Given the description of an element on the screen output the (x, y) to click on. 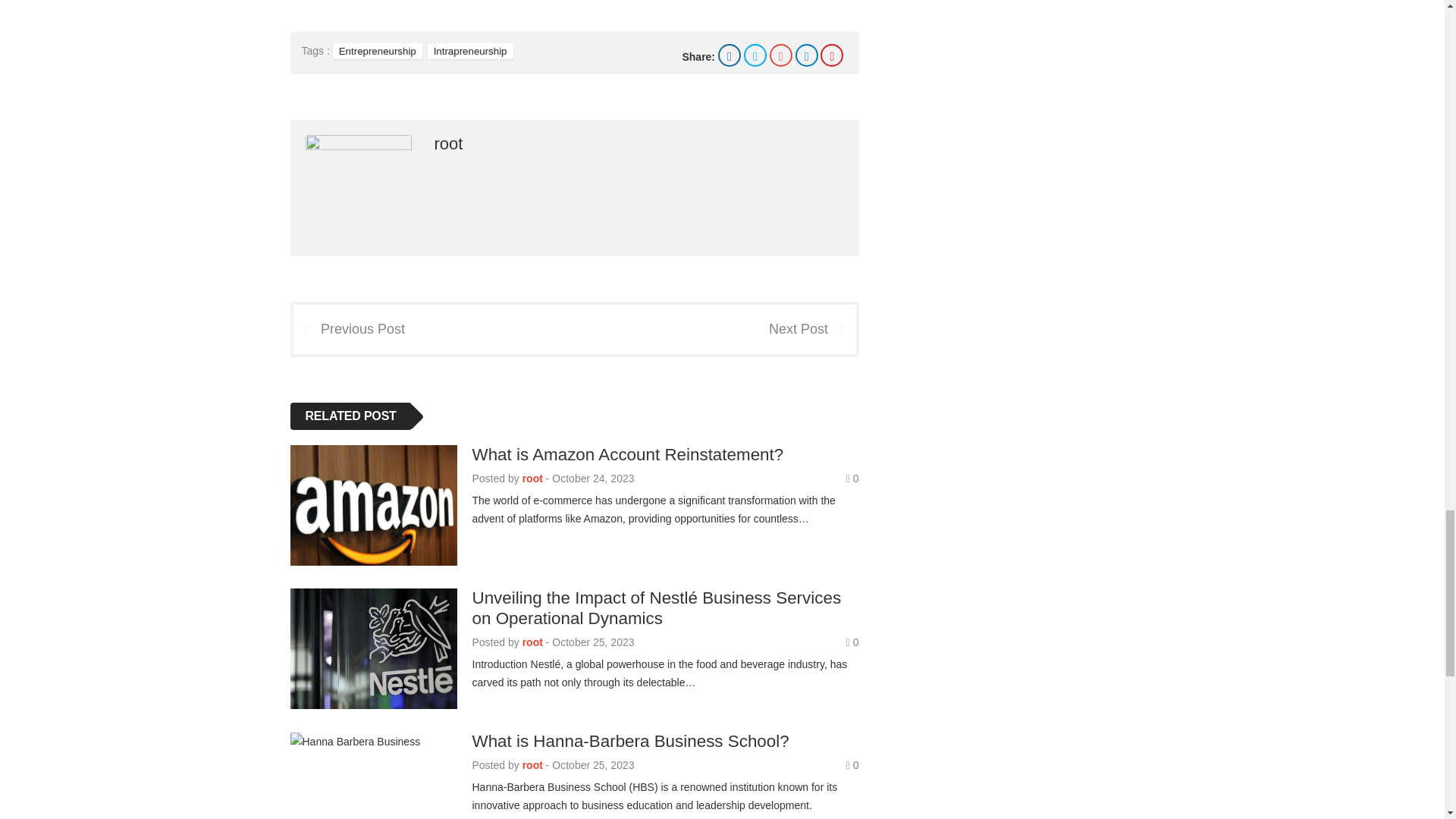
Facebook (729, 55)
Twitter (755, 55)
Google Plus (781, 55)
Linkedin (806, 55)
